Given the description of an element on the screen output the (x, y) to click on. 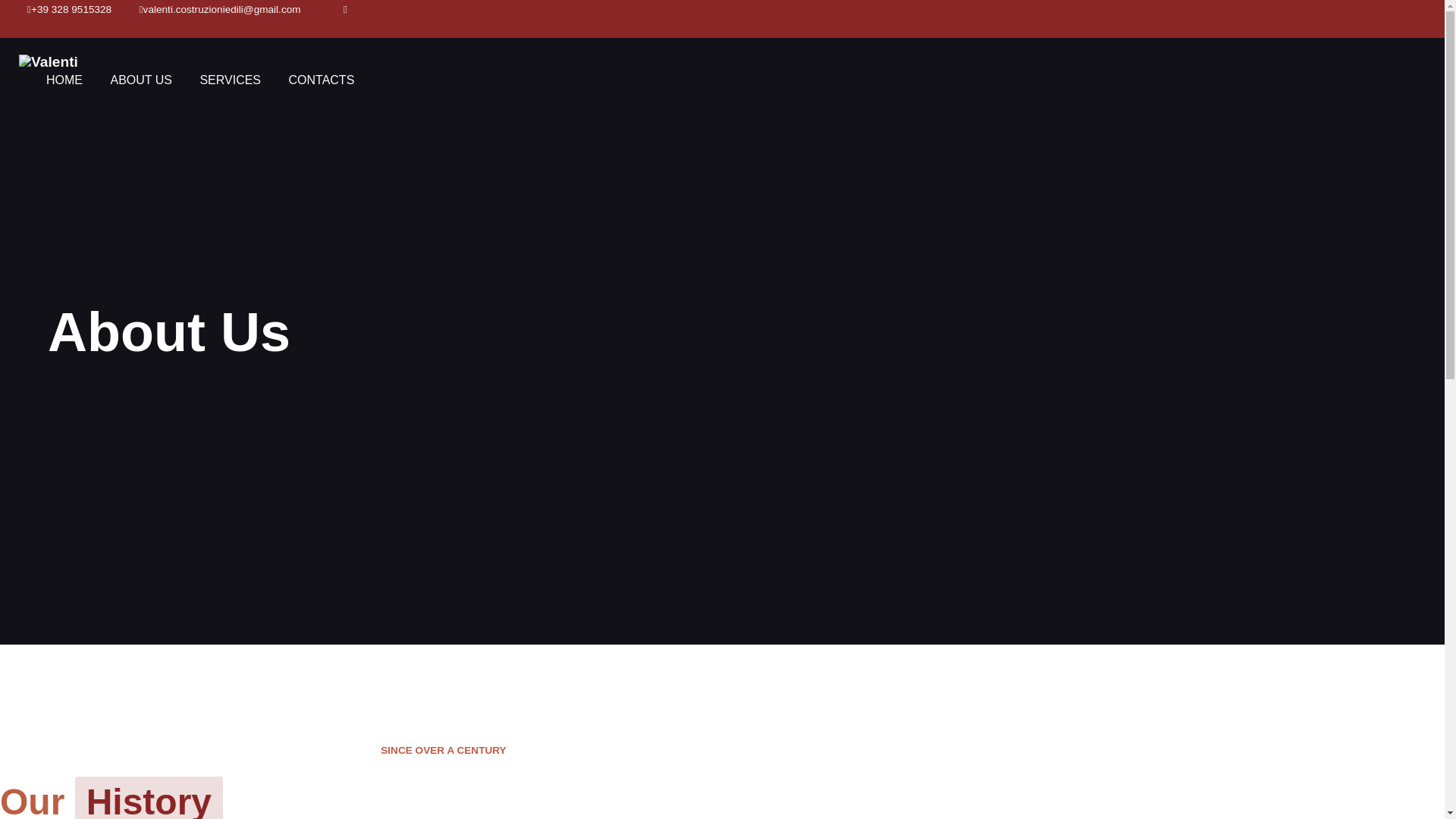
ABOUT US (140, 80)
HOME (63, 80)
CONTACTS (321, 80)
SERVICES (230, 80)
